Given the description of an element on the screen output the (x, y) to click on. 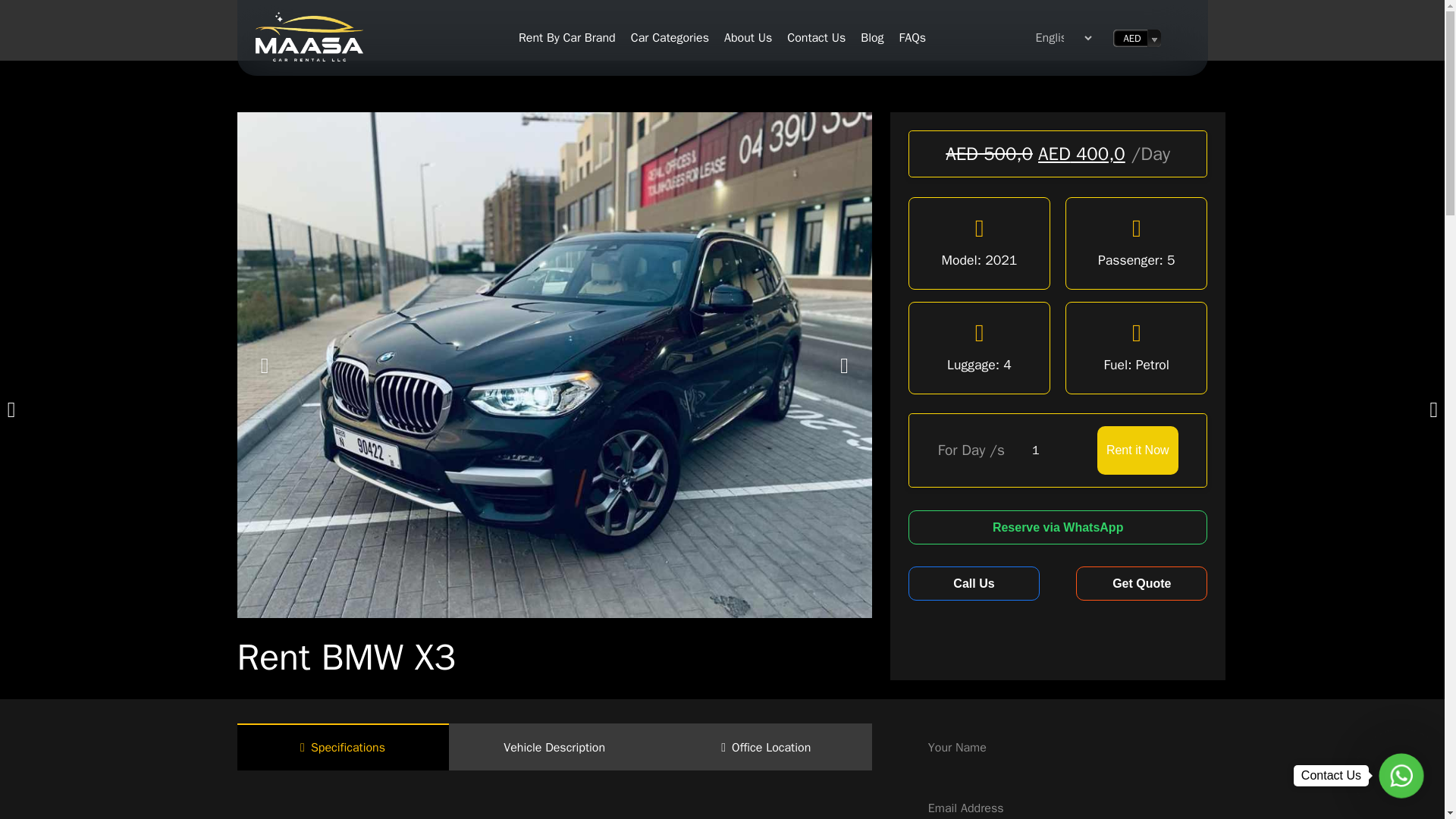
1 (1046, 450)
Rent By Car Brand (567, 37)
